Given the description of an element on the screen output the (x, y) to click on. 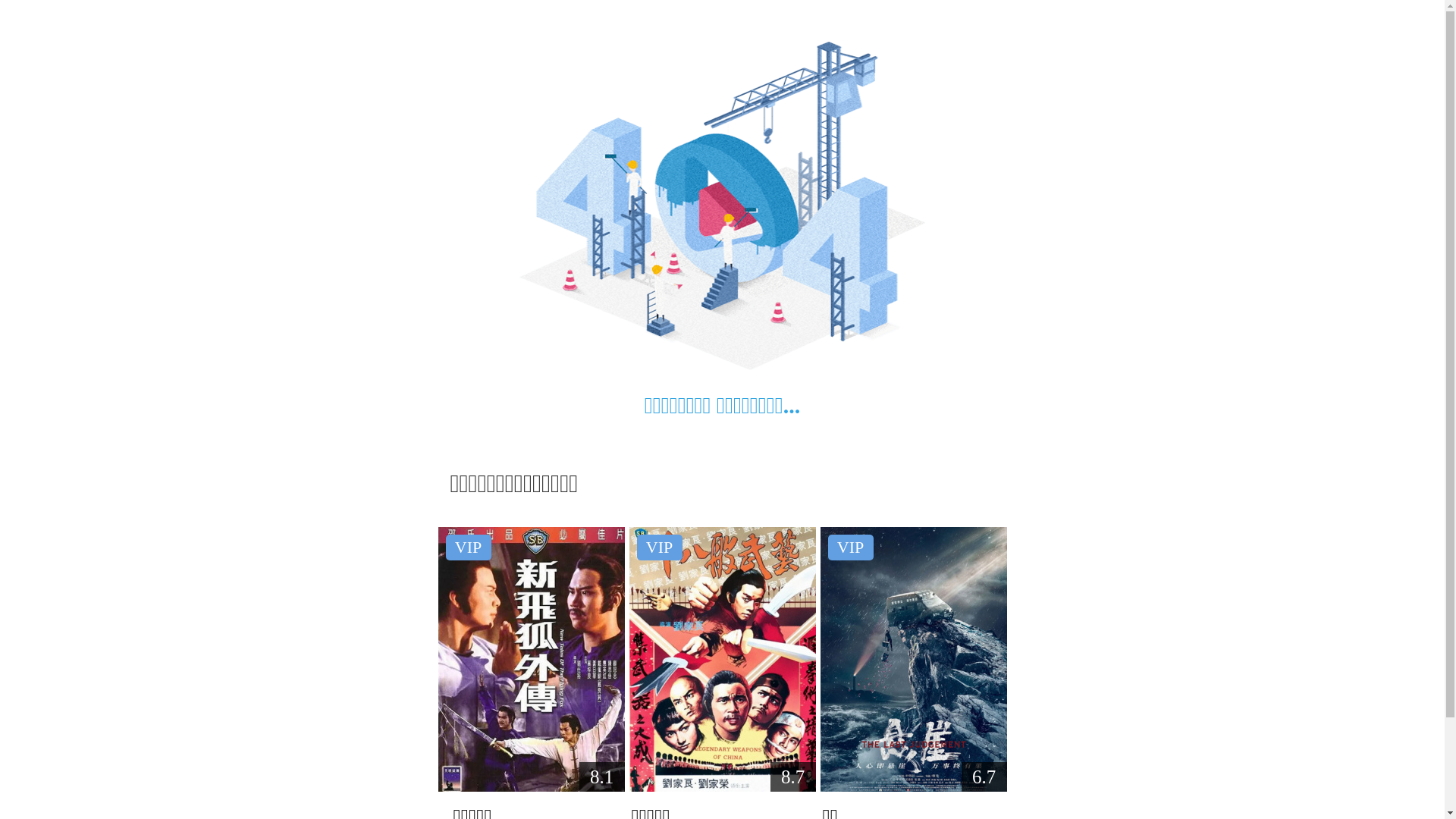
VIP
6.7 Element type: text (913, 659)
VIP
8.1 Element type: text (531, 659)
VIP
8.7 Element type: text (722, 659)
